Given the description of an element on the screen output the (x, y) to click on. 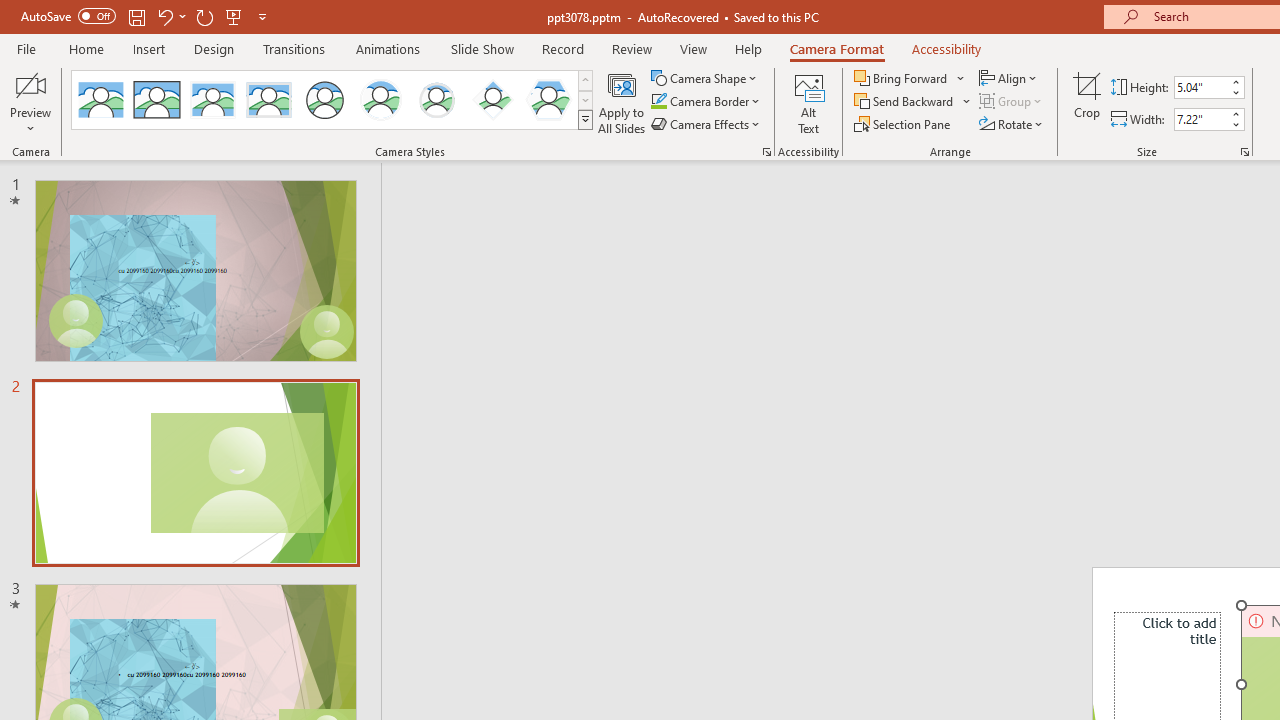
Center Shadow Rectangle (212, 100)
Less (1235, 124)
Camera Shape (705, 78)
Bring Forward (910, 78)
Bring Forward (902, 78)
Group (1012, 101)
Rotate (1012, 124)
Camera Format (836, 48)
Send Backward (913, 101)
Camera Border (706, 101)
More (1235, 113)
